Given the description of an element on the screen output the (x, y) to click on. 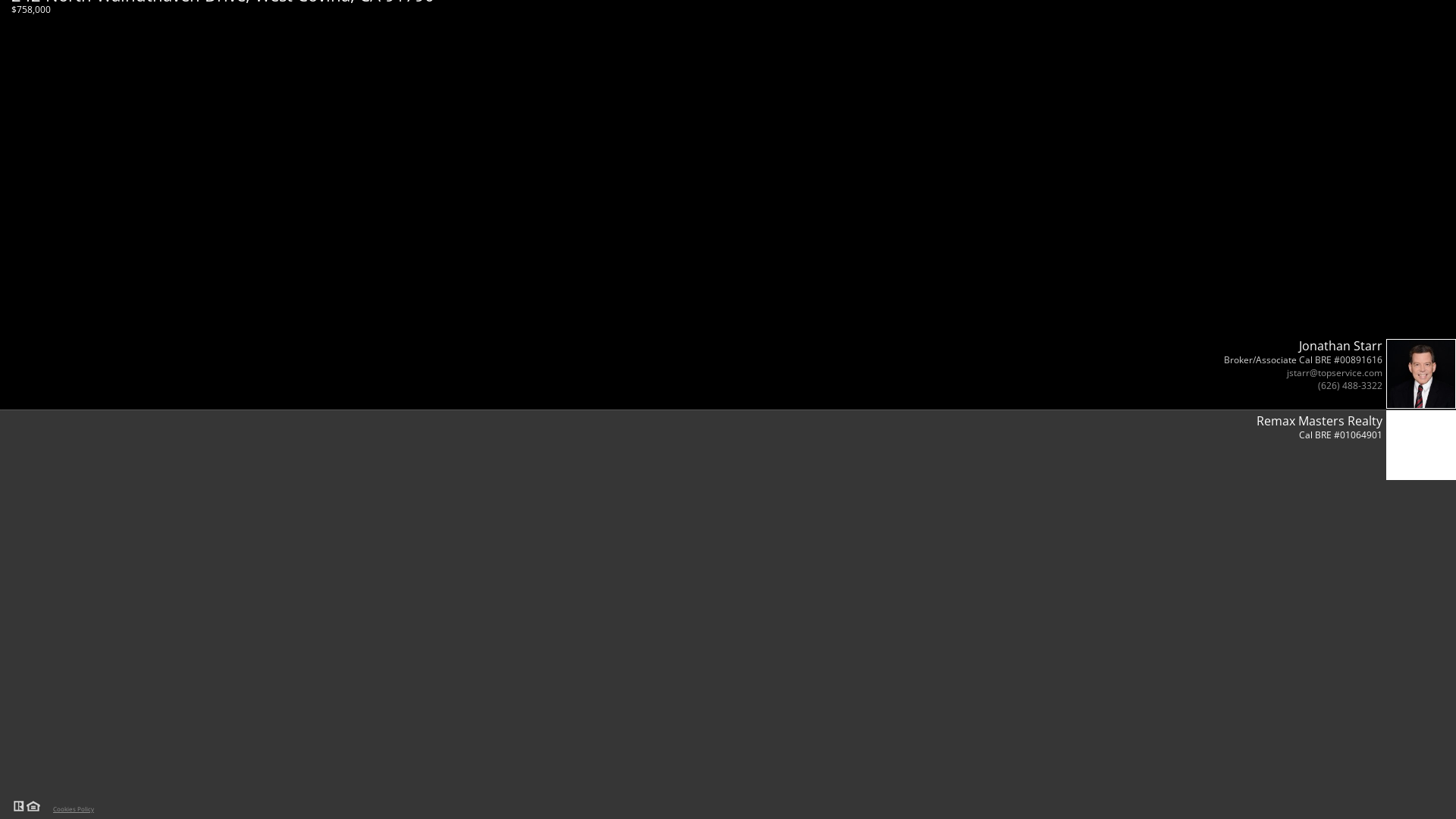
(626) 488-3322 Element type: text (1349, 385)
jstarr@topservice.com Element type: text (1334, 372)
Cookies Policy Element type: text (71, 806)
